Given the description of an element on the screen output the (x, y) to click on. 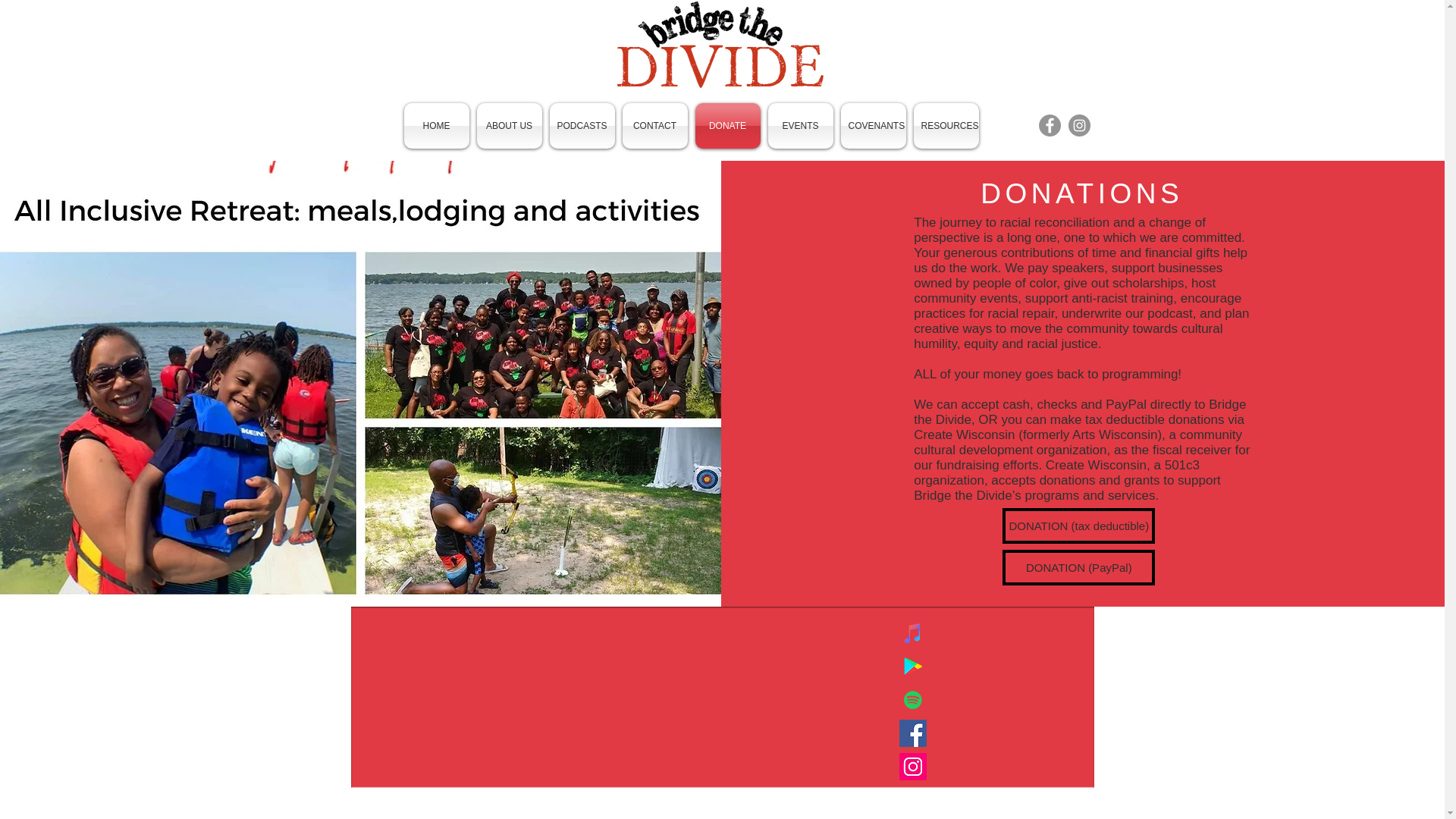
DONATE (727, 125)
HOME (436, 125)
EVENTS (800, 125)
COVENANTS (873, 125)
ABOUT US (509, 125)
PODCASTS (582, 125)
RESOURCES (946, 125)
CONTACT (654, 125)
